Given the description of an element on the screen output the (x, y) to click on. 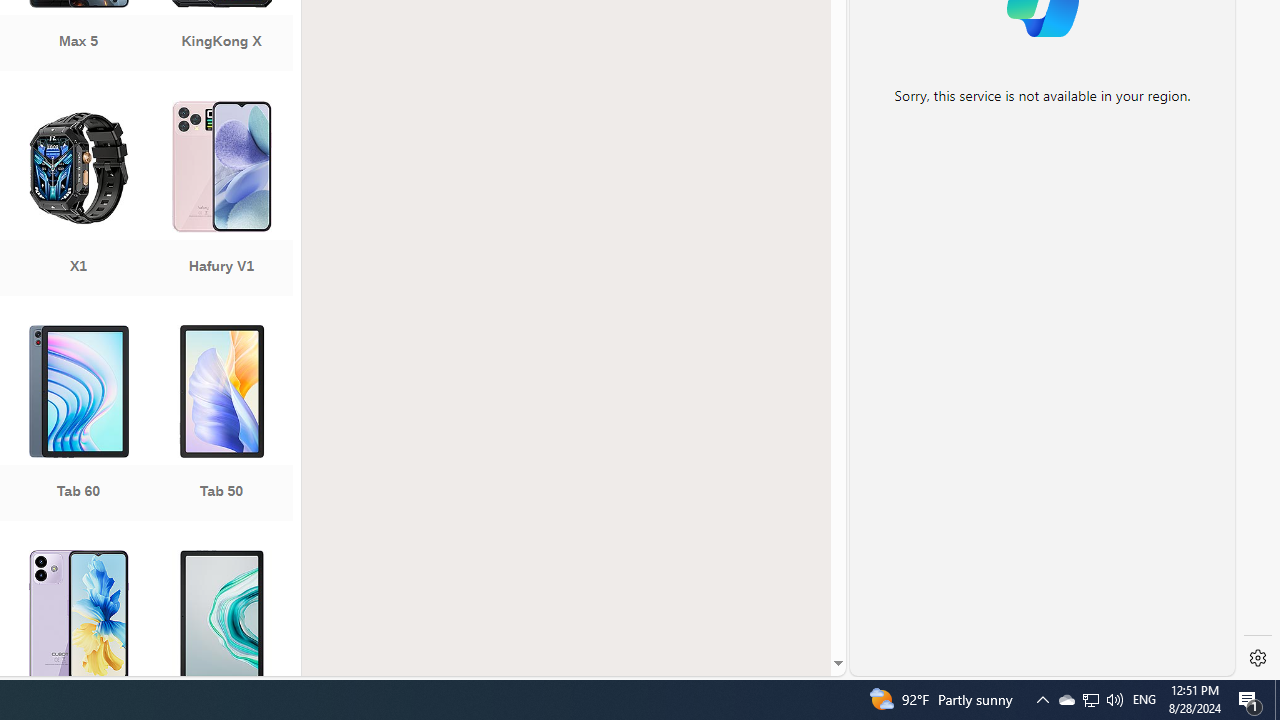
Tab 50 (221, 425)
Settings (1258, 658)
X1 (77, 200)
Tab 60 (77, 425)
Hafury V1 (221, 200)
